Given the description of an element on the screen output the (x, y) to click on. 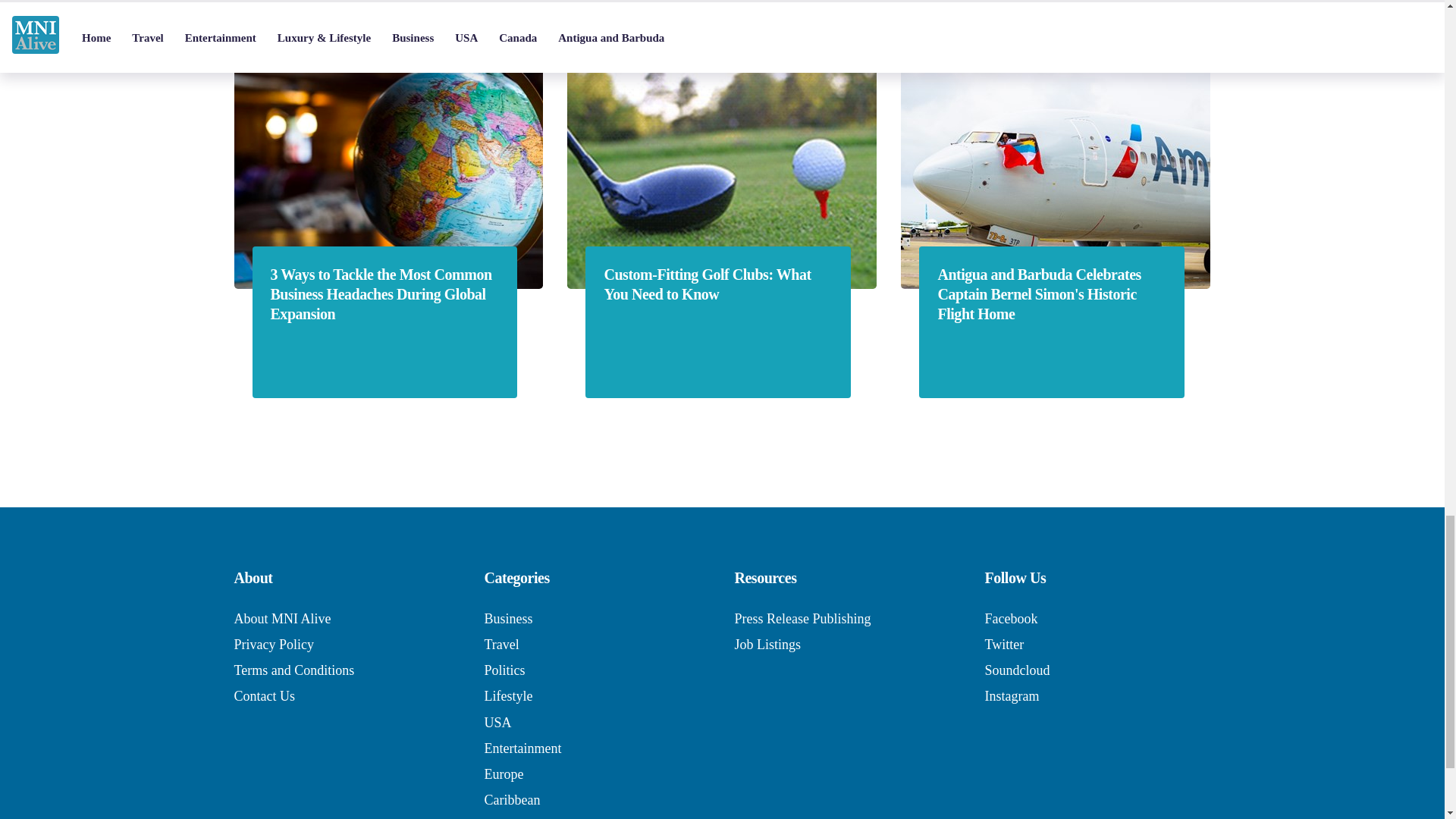
Twitter (1003, 644)
Entertainment (521, 748)
Facebook (1010, 618)
Press Release Publishing (801, 618)
Contact Us (263, 695)
Lifestyle (507, 695)
Business (507, 618)
Montserrat (513, 818)
Soundcloud (1016, 670)
Job Listings (766, 644)
Terms and Conditions (292, 670)
Caribbean (511, 799)
Privacy Policy (273, 644)
